Given the description of an element on the screen output the (x, y) to click on. 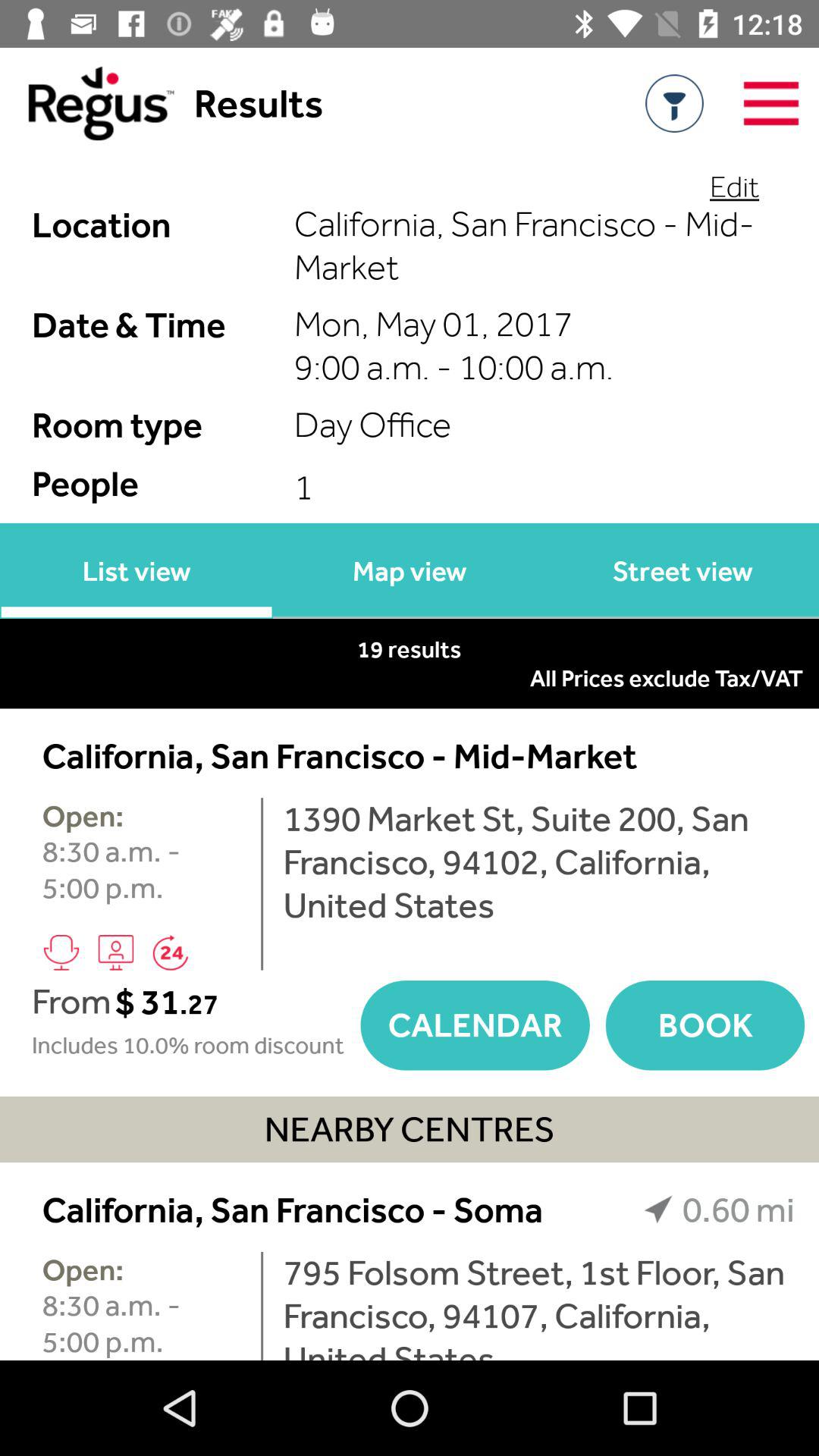
tap item next to results item (87, 103)
